Given the description of an element on the screen output the (x, y) to click on. 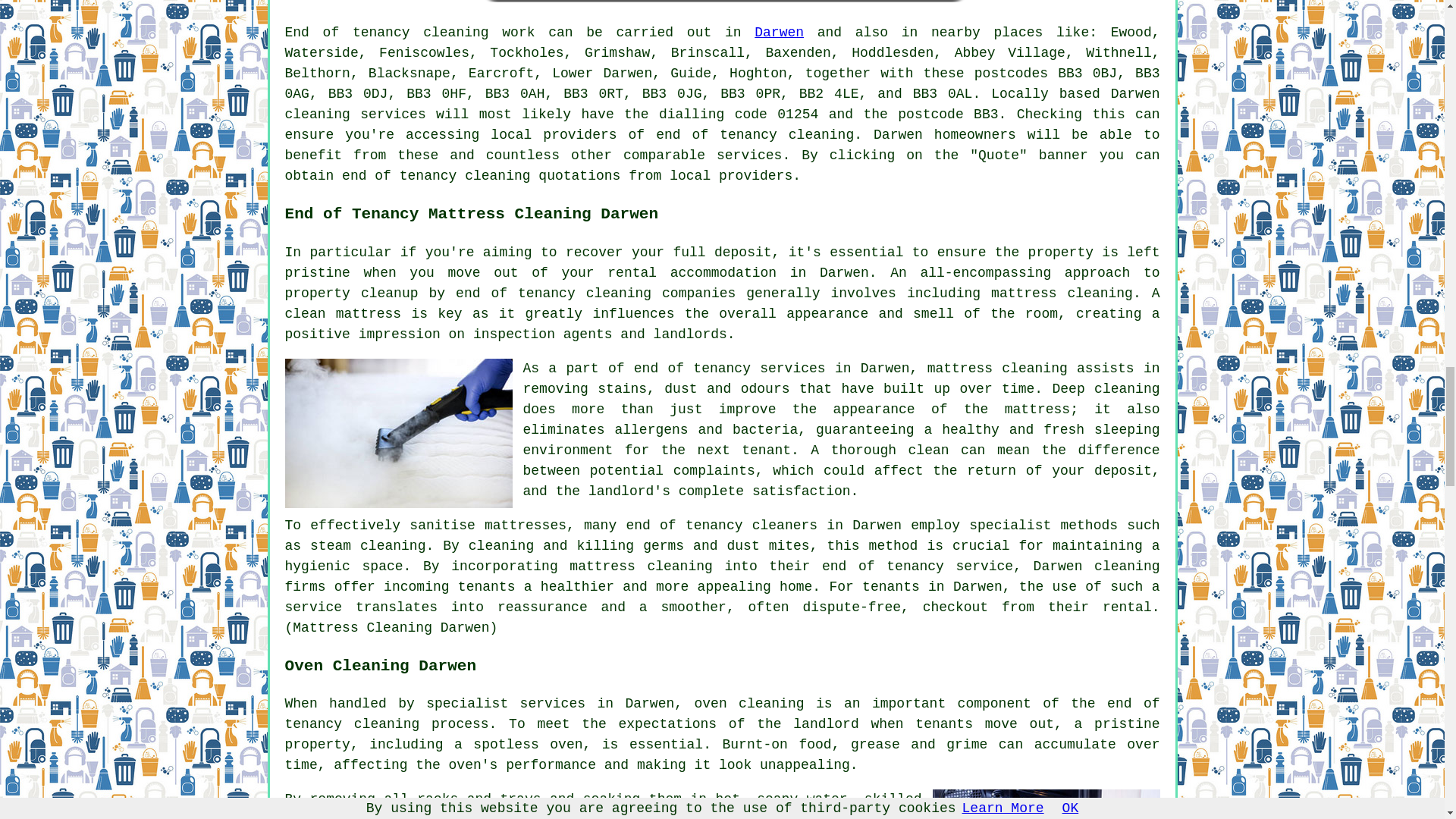
end of tenancy cleaning (754, 134)
cleaning services (355, 114)
End of tenancy (347, 32)
cleaners (784, 524)
Oven Cleaning Darwen (1046, 804)
Mattress Cleaning Darwen (398, 431)
end of tenancy cleaning (722, 714)
